Given the description of an element on the screen output the (x, y) to click on. 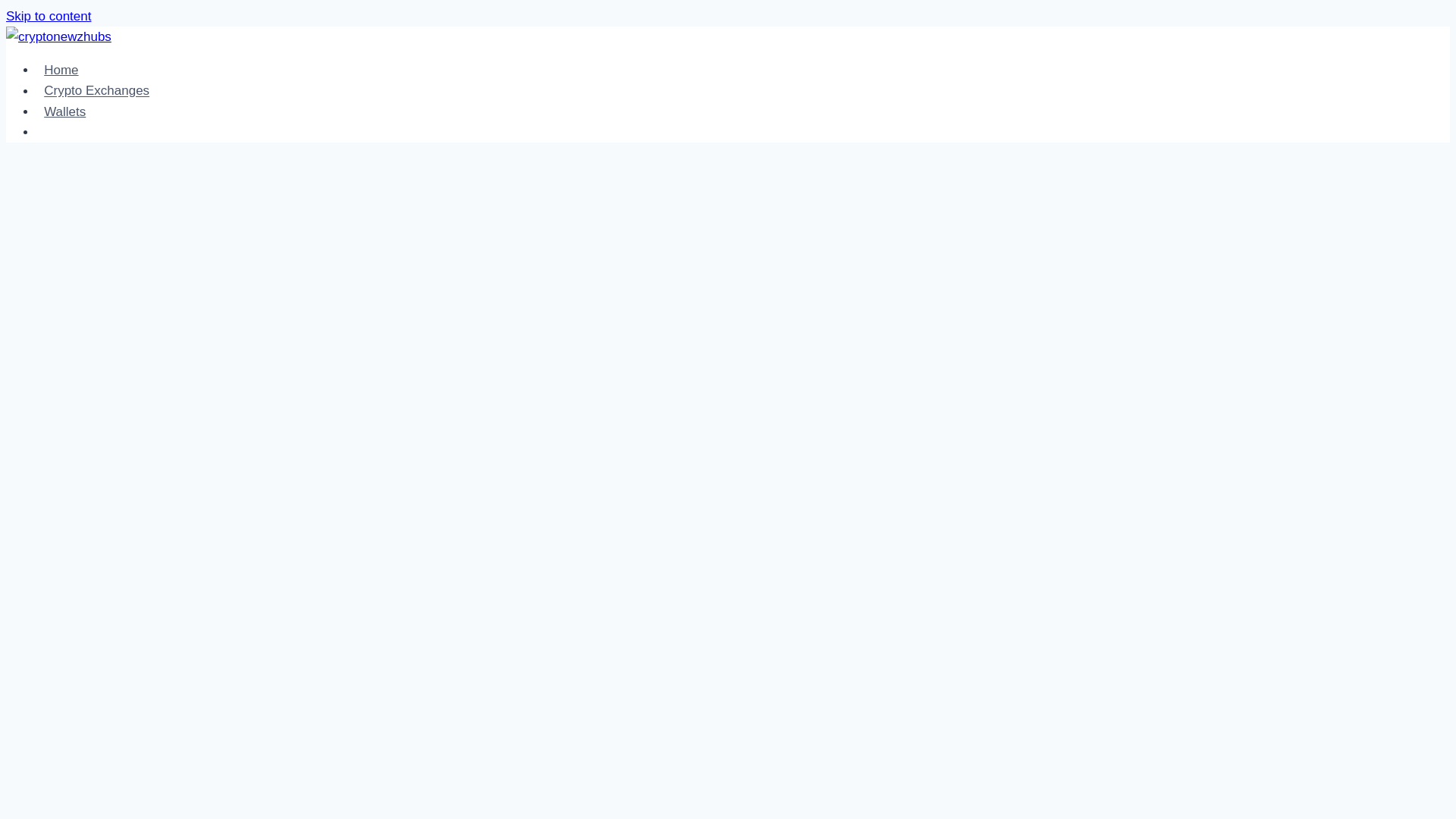
Crypto Exchanges (96, 90)
Wallets (64, 111)
Skip to content (47, 16)
Skip to content (47, 16)
Home (60, 70)
